Given the description of an element on the screen output the (x, y) to click on. 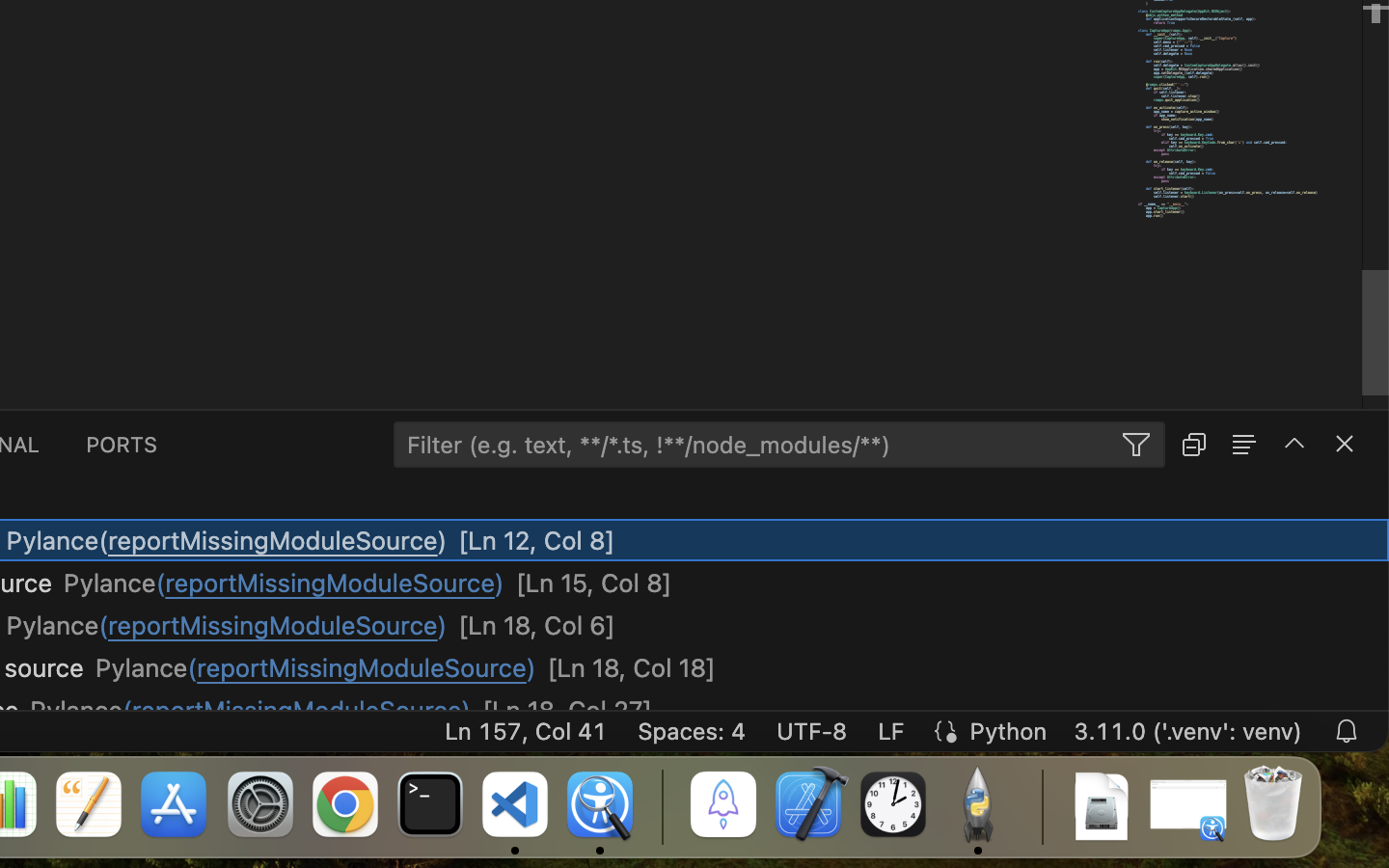
0.4285714328289032 Element type: AXDockItem (660, 805)
[Ln 18, Col 6] Element type: AXStaticText (537, 625)
0 PORTS Element type: AXRadioButton (122, 443)
 Element type: AXCheckBox (1294, 443)
 Element type: AXButton (1344, 443)
